Given the description of an element on the screen output the (x, y) to click on. 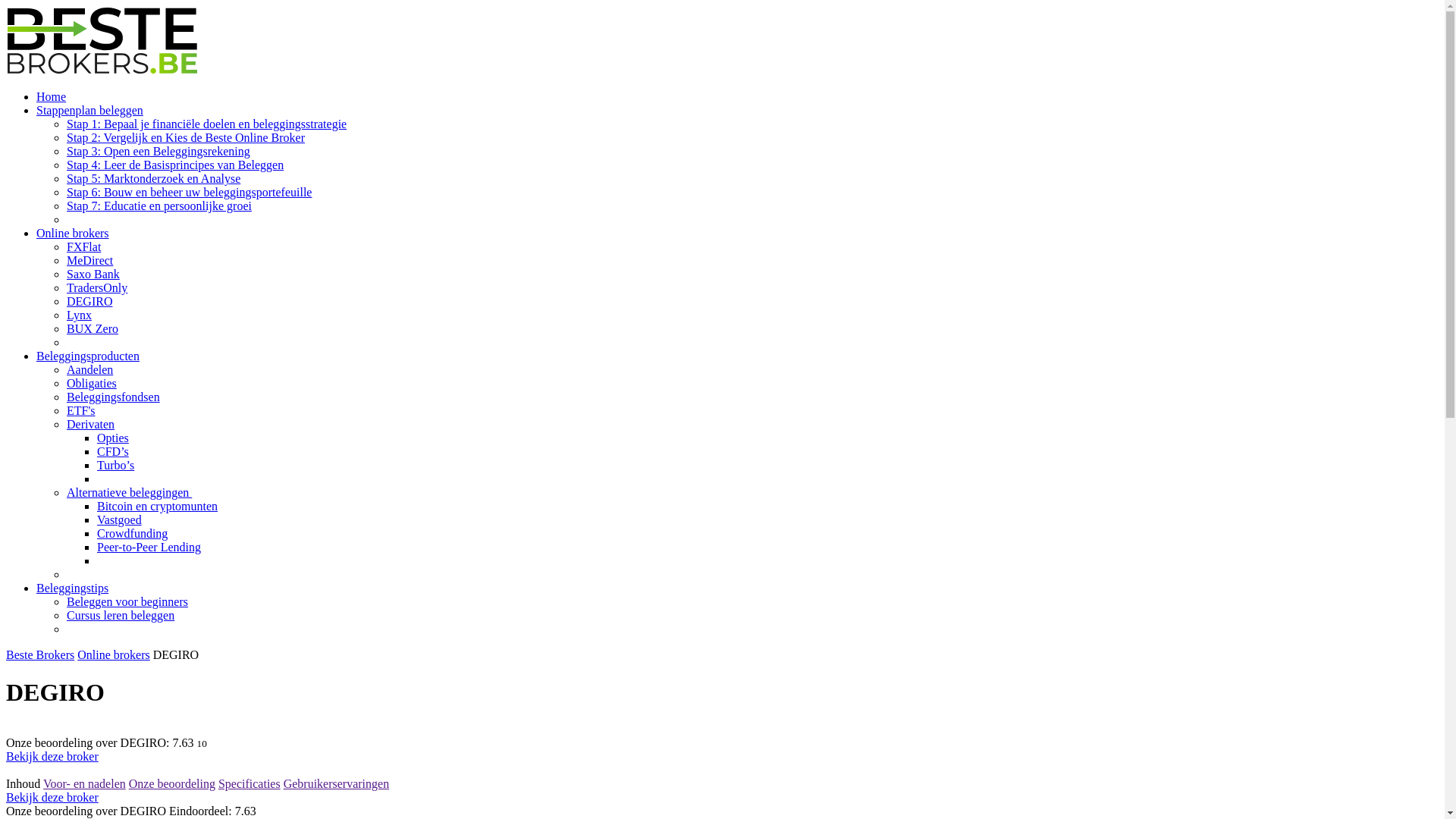
Obligaties Element type: text (91, 382)
Stap 6: Bouw en beheer uw beleggingsportefeuille Element type: text (188, 191)
BUX Zero Element type: text (92, 328)
Beleggingstips Element type: text (72, 587)
Beleggingsfondsen Element type: text (113, 396)
Aandelen Element type: text (89, 369)
Vastgoed Element type: text (119, 519)
Opties Element type: text (112, 437)
Lynx Element type: text (78, 314)
Online brokers Element type: text (72, 232)
ETF's Element type: text (80, 410)
Cursus leren beleggen Element type: text (120, 614)
Derivaten Element type: text (90, 423)
Bekijk deze broker Element type: text (52, 796)
Stap 2: Vergelijk en Kies de Beste Online Broker Element type: text (185, 137)
Onze beoordeling Element type: text (171, 783)
Stap 5: Marktonderzoek en Analyse Element type: text (153, 178)
Stap 3: Open een Beleggingsrekening Element type: text (158, 150)
Bitcoin en cryptomunten Element type: text (157, 505)
FXFlat Element type: text (83, 246)
Stappenplan beleggen Element type: text (89, 109)
Specificaties Element type: text (249, 783)
MeDirect Element type: text (89, 260)
Crowdfunding Element type: text (132, 533)
Alternatieve beleggingen  Element type: text (128, 492)
Voor- en nadelen Element type: text (84, 783)
Stap 4: Leer de Basisprincipes van Beleggen Element type: text (174, 164)
Gebruikerservaringen Element type: text (336, 783)
Home Element type: text (50, 96)
Beleggen voor beginners Element type: text (127, 601)
Peer-to-Peer Lending Element type: text (148, 546)
Beleggingsproducten Element type: text (87, 355)
TradersOnly Element type: text (96, 287)
Beste Brokers Element type: text (40, 654)
Saxo Bank Element type: text (92, 273)
Stap 7: Educatie en persoonlijke groei Element type: text (158, 205)
DEGIRO Element type: text (89, 300)
Bekijk deze broker Element type: text (52, 755)
Online brokers Element type: text (113, 654)
